Given the description of an element on the screen output the (x, y) to click on. 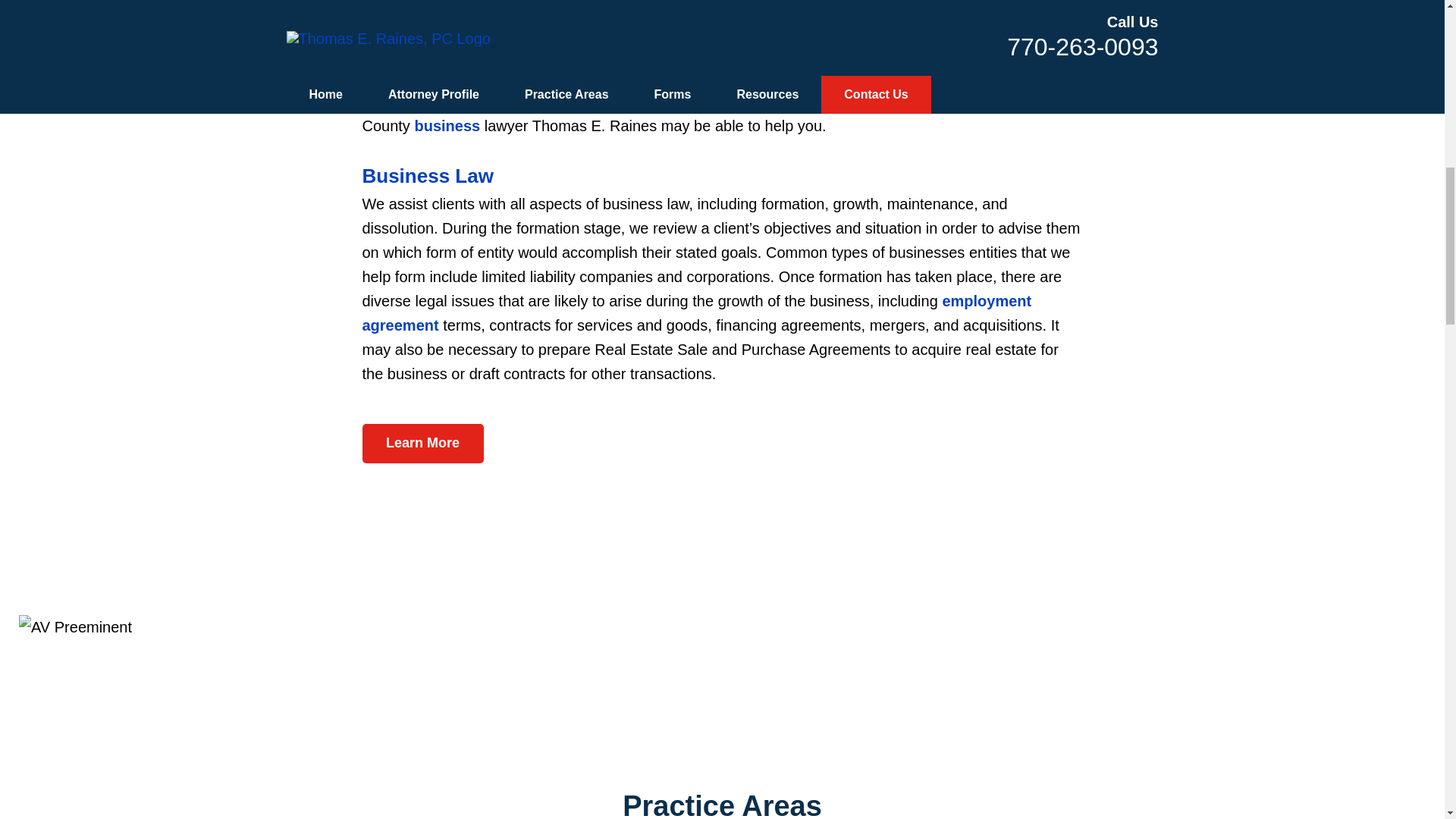
siness (456, 125)
Learn More (422, 443)
Business Law (427, 175)
employment agreement (697, 312)
